Given the description of an element on the screen output the (x, y) to click on. 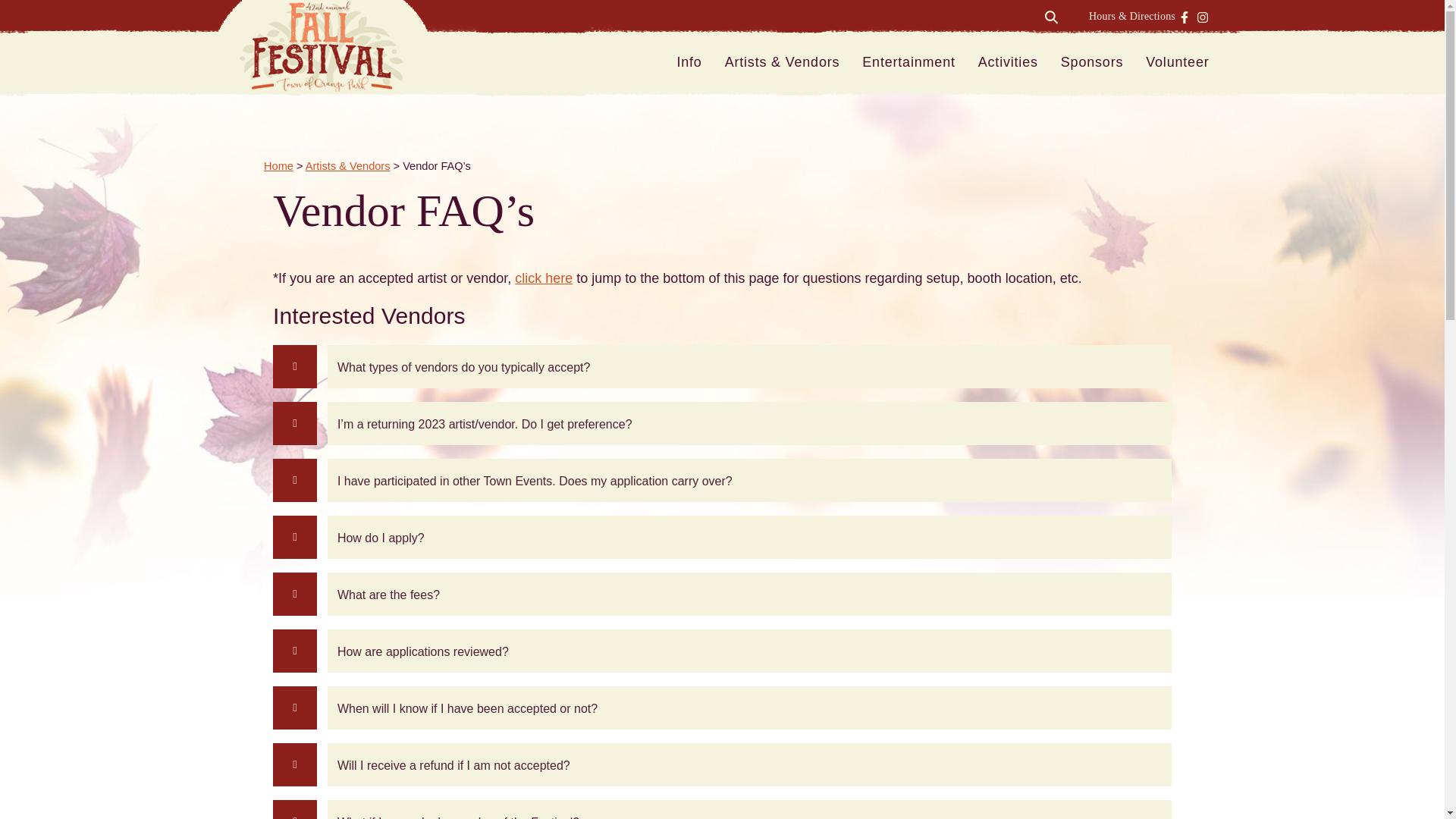
How are applications reviewed? (749, 650)
How do I apply? (749, 536)
SEARCH (1051, 16)
Home (278, 165)
Activities (1008, 62)
What types of vendors do you typically accept? (749, 366)
What are the fees? (749, 593)
Volunteer (1176, 62)
Entertainment (908, 62)
Sponsors (1091, 62)
